Given the description of an element on the screen output the (x, y) to click on. 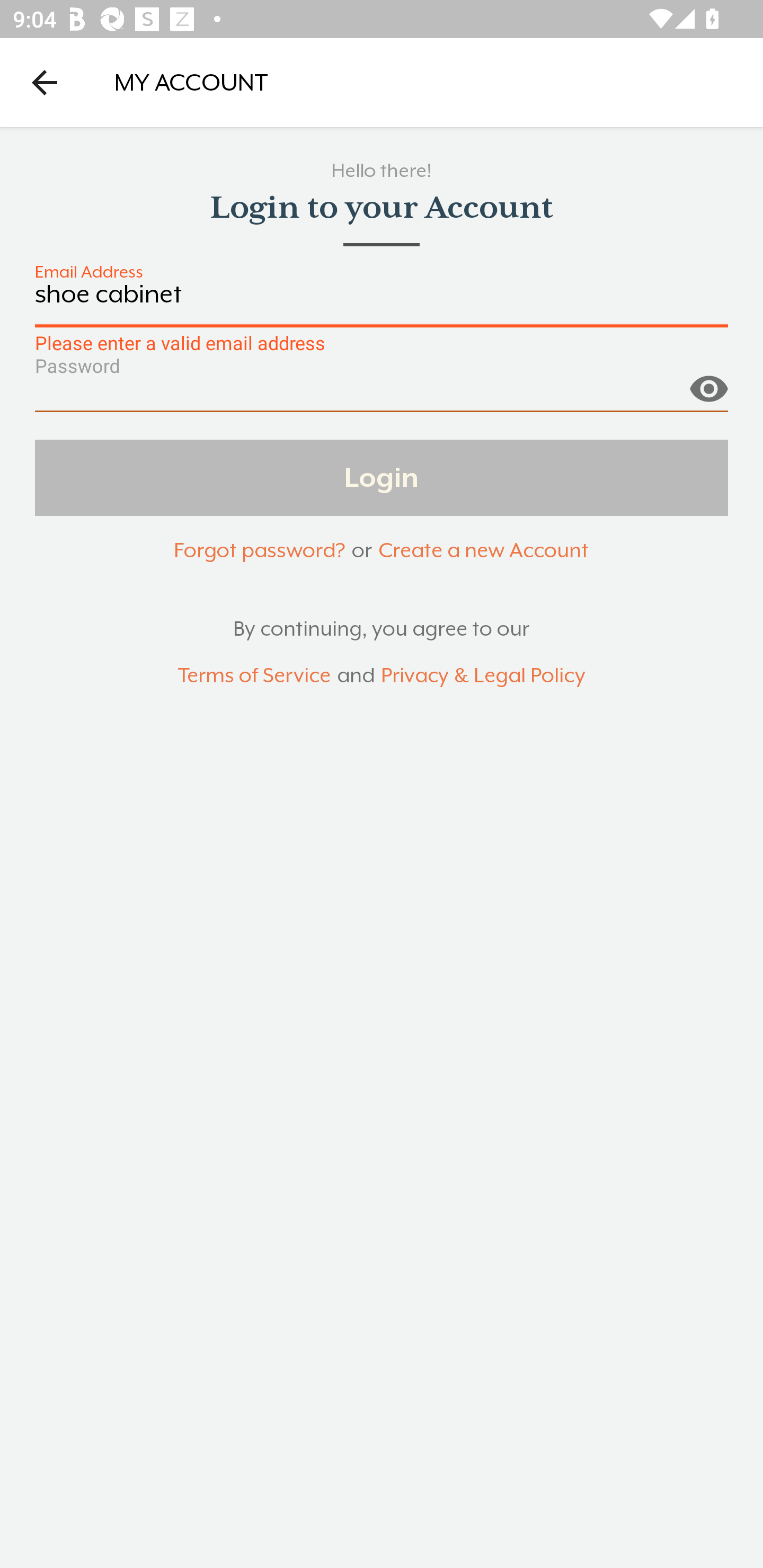
Navigate up (44, 82)
shoe cabinet (381, 304)
 (708, 381)
Password (381, 393)
Login (381, 477)
Forgot password? (259, 550)
Create a new Account (483, 550)
Terms of Service (253, 675)
Privacy & Legal Policy (483, 675)
